Given the description of an element on the screen output the (x, y) to click on. 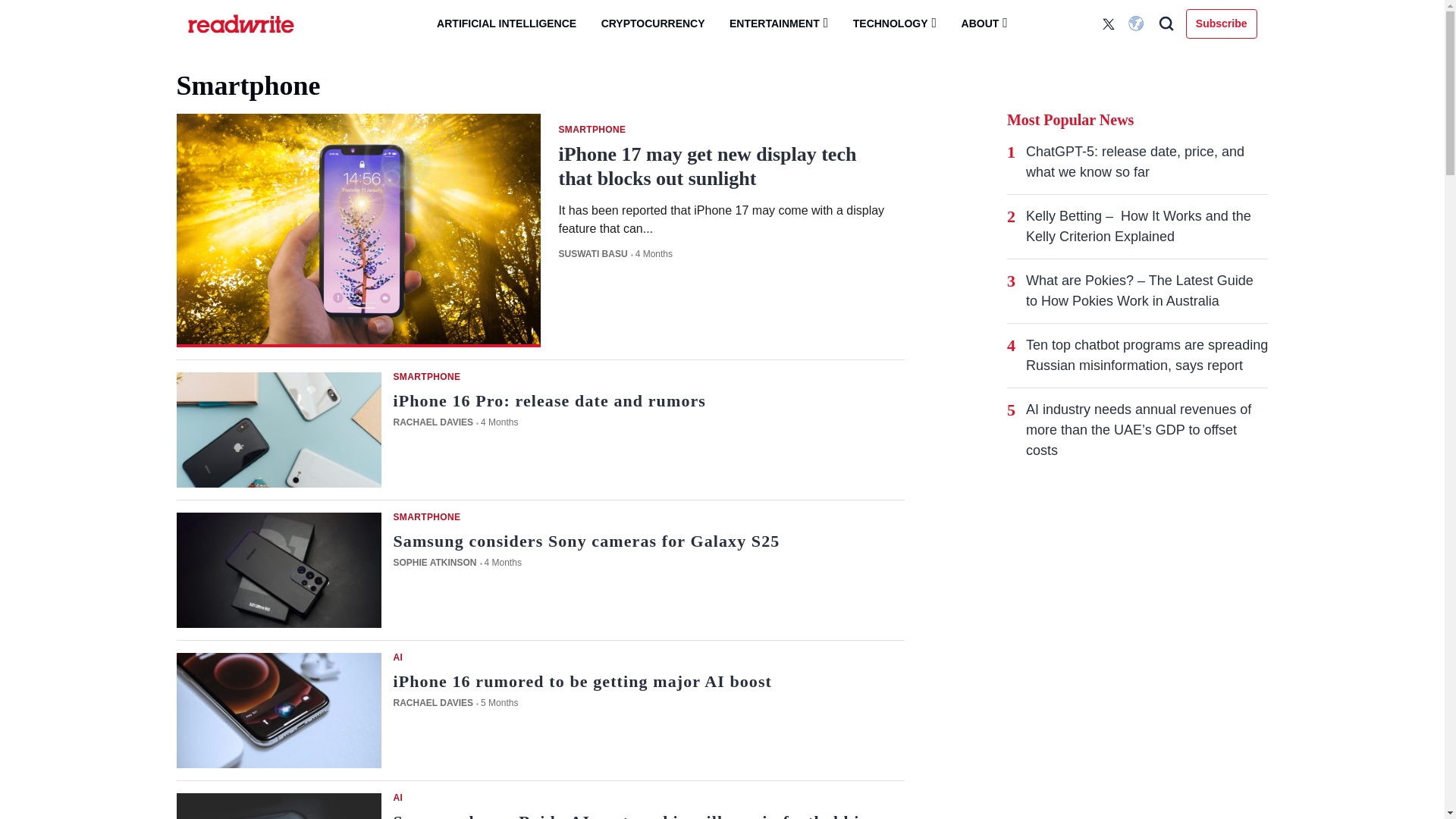
ENTERTAINMENT (778, 23)
Subscribe (1221, 23)
CRYPTOCURRENCY (653, 23)
ABOUT (983, 23)
ARTIFICIAL INTELLIGENCE (506, 23)
English (1137, 23)
TECHNOLOGY (895, 23)
